Given the description of an element on the screen output the (x, y) to click on. 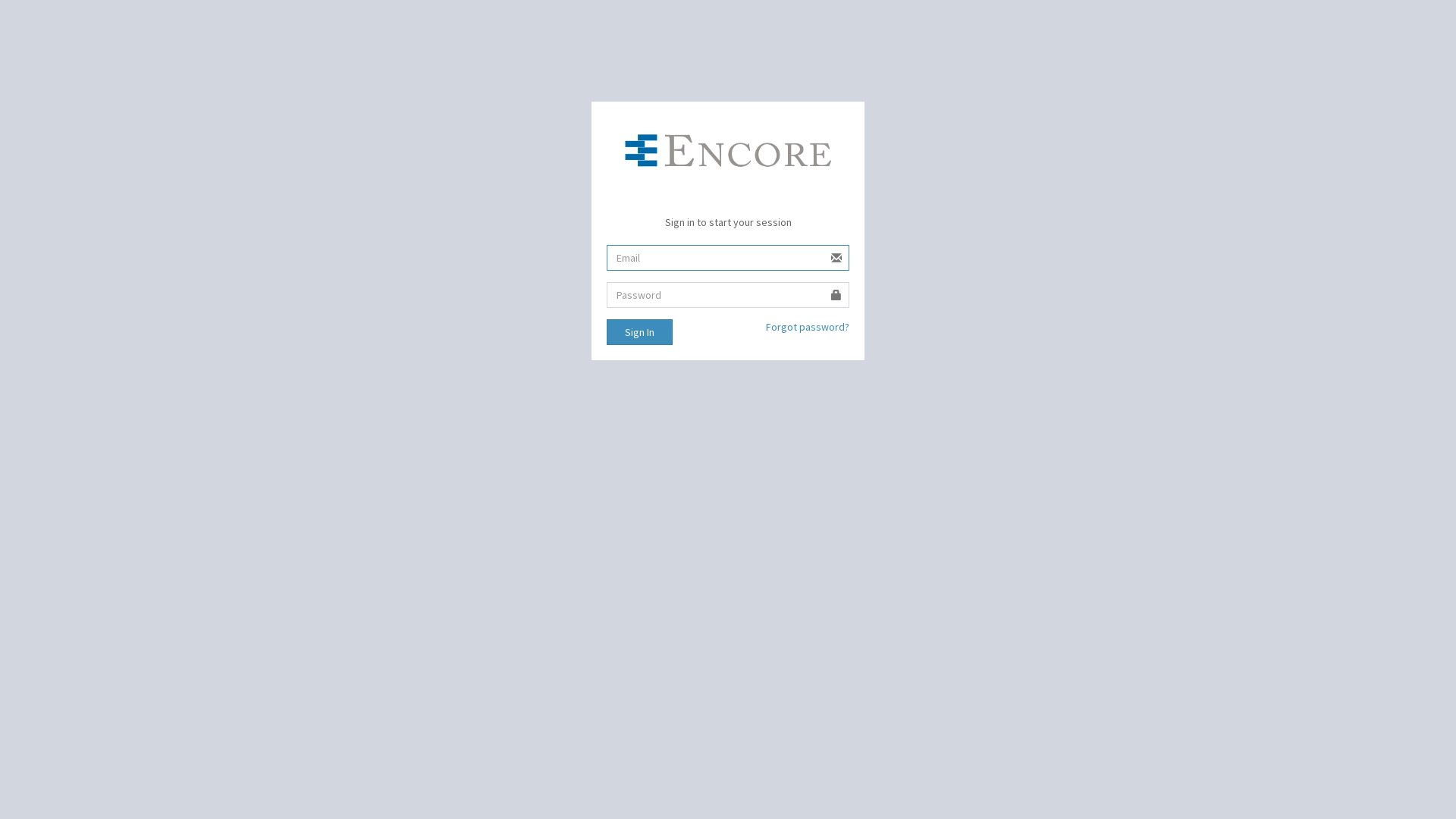
Sign In Element type: text (639, 332)
Forgot password? Element type: text (807, 326)
